Given the description of an element on the screen output the (x, y) to click on. 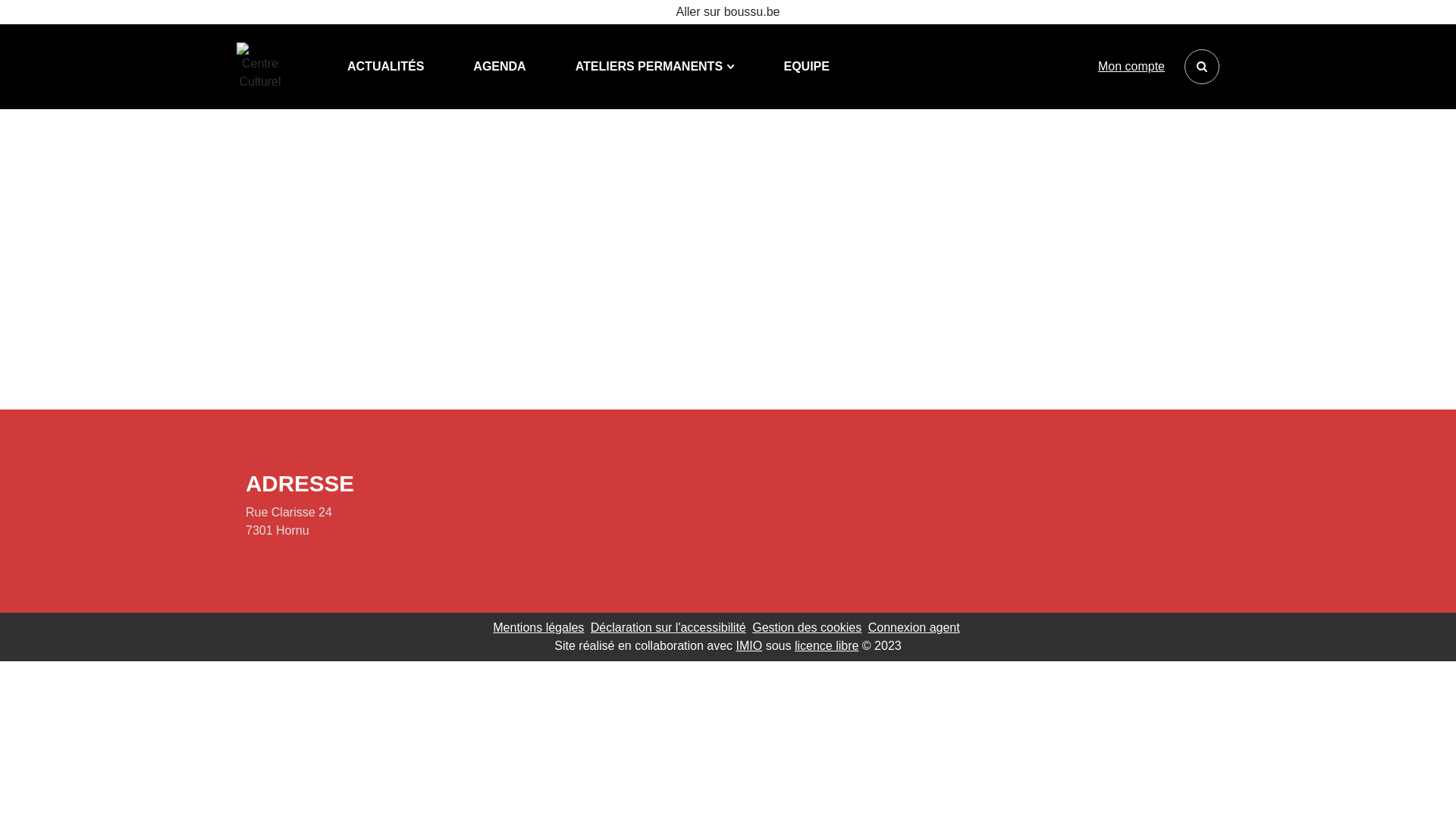
EQUIPE Element type: text (805, 66)
Mon compte Element type: text (1131, 65)
Aller sur boussu.be Element type: text (728, 11)
Centre Culturel Element type: hover (259, 66)
Rechercher Element type: text (1201, 66)
licence libre Element type: text (826, 644)
AGENDA Element type: text (499, 66)
Connexion agent Element type: text (914, 626)
IMIO Element type: text (749, 644)
ATELIERS PERMANENTS Element type: text (654, 66)
Centre Culturel Element type: hover (262, 66)
Gestion des cookies Element type: text (806, 626)
